Given the description of an element on the screen output the (x, y) to click on. 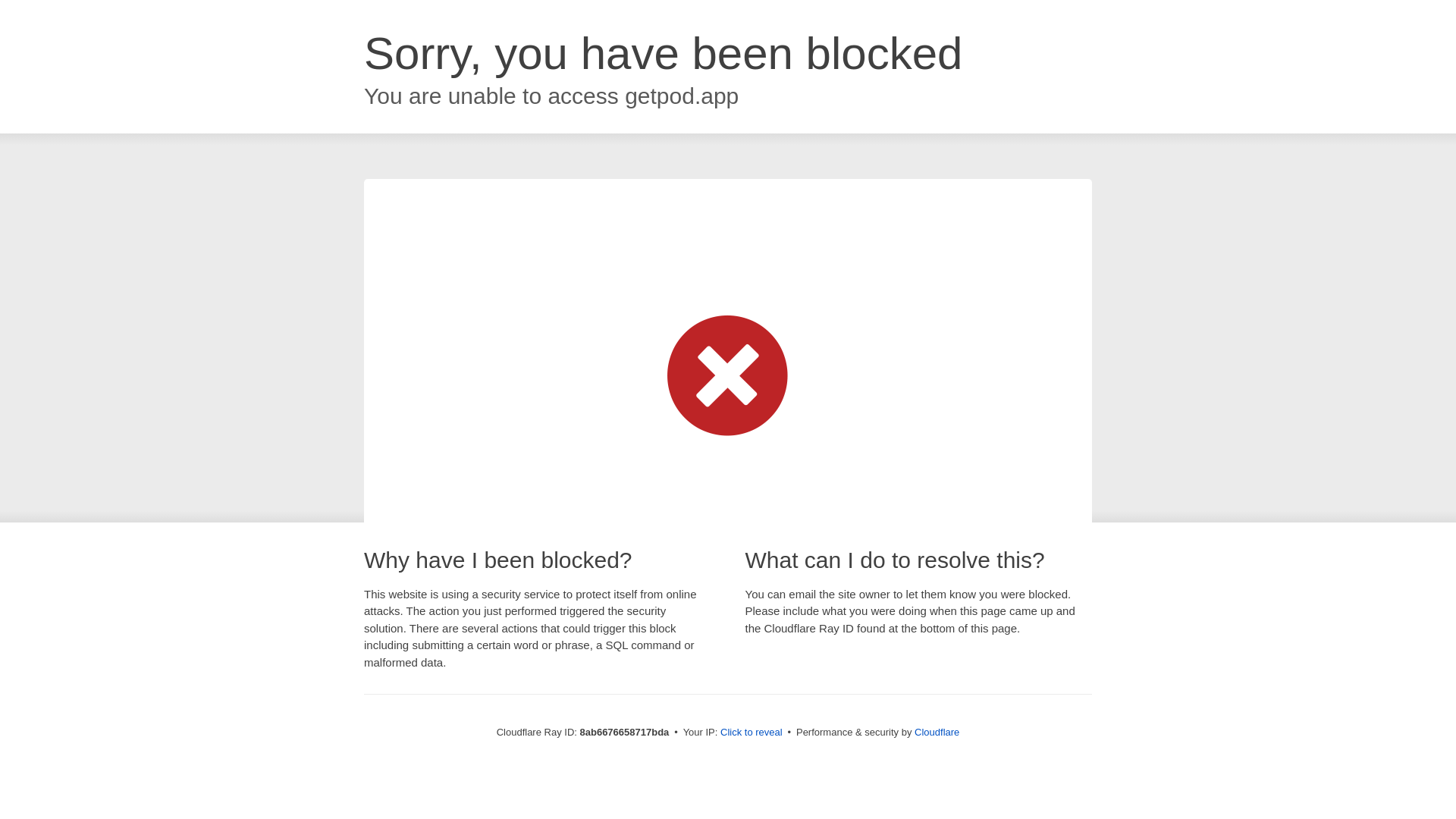
Cloudflare (936, 731)
Click to reveal (751, 732)
